Given the description of an element on the screen output the (x, y) to click on. 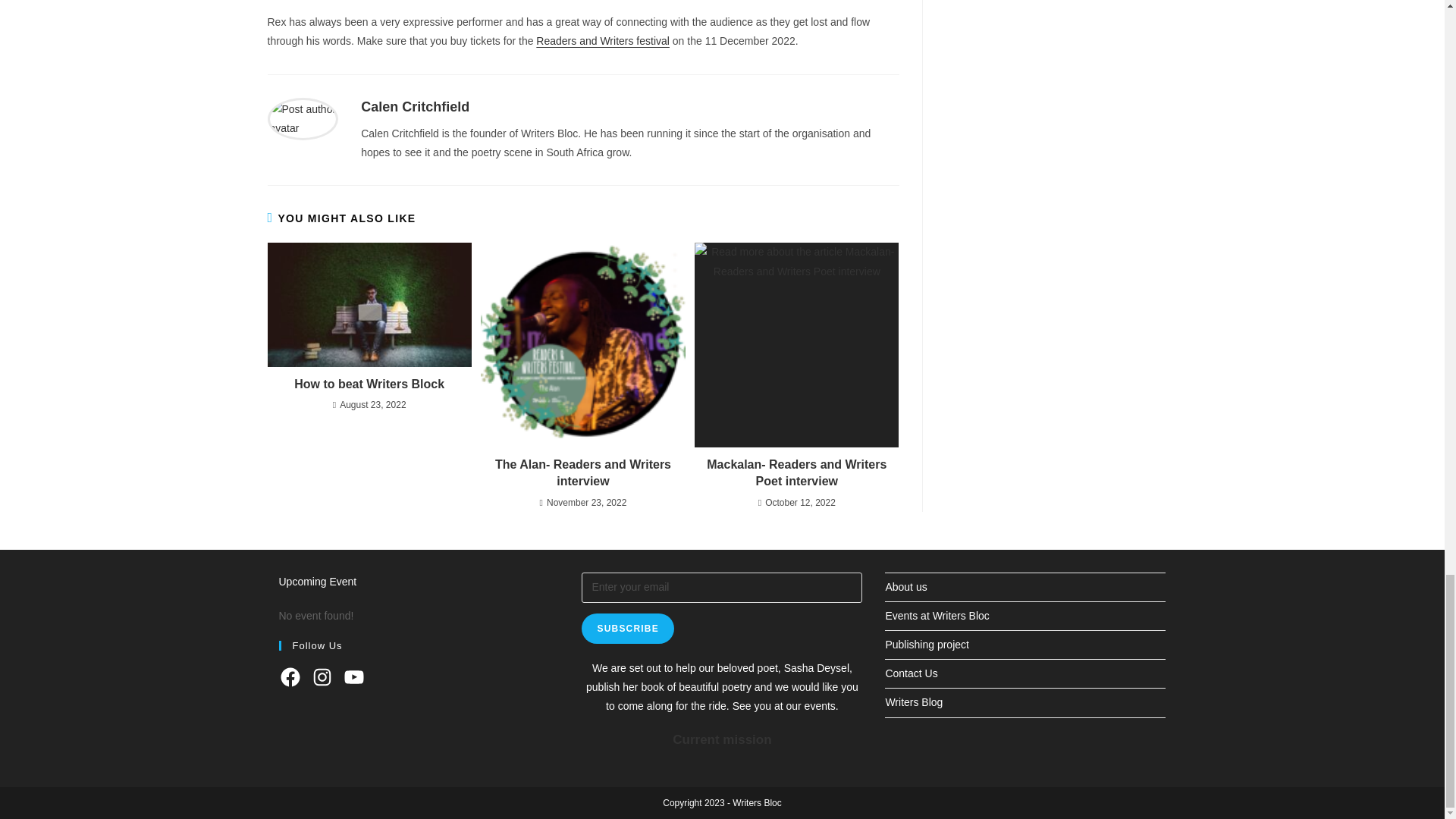
Contact Us (911, 673)
How to beat Writers Block (368, 384)
Readers and Writers festival (602, 40)
Visit author page (414, 106)
SUBSCRIBE (626, 628)
Visit author page (301, 118)
Events at Writers Bloc (936, 615)
Enter your email (720, 587)
About us (905, 586)
Calen Critchfield (414, 106)
